Given the description of an element on the screen output the (x, y) to click on. 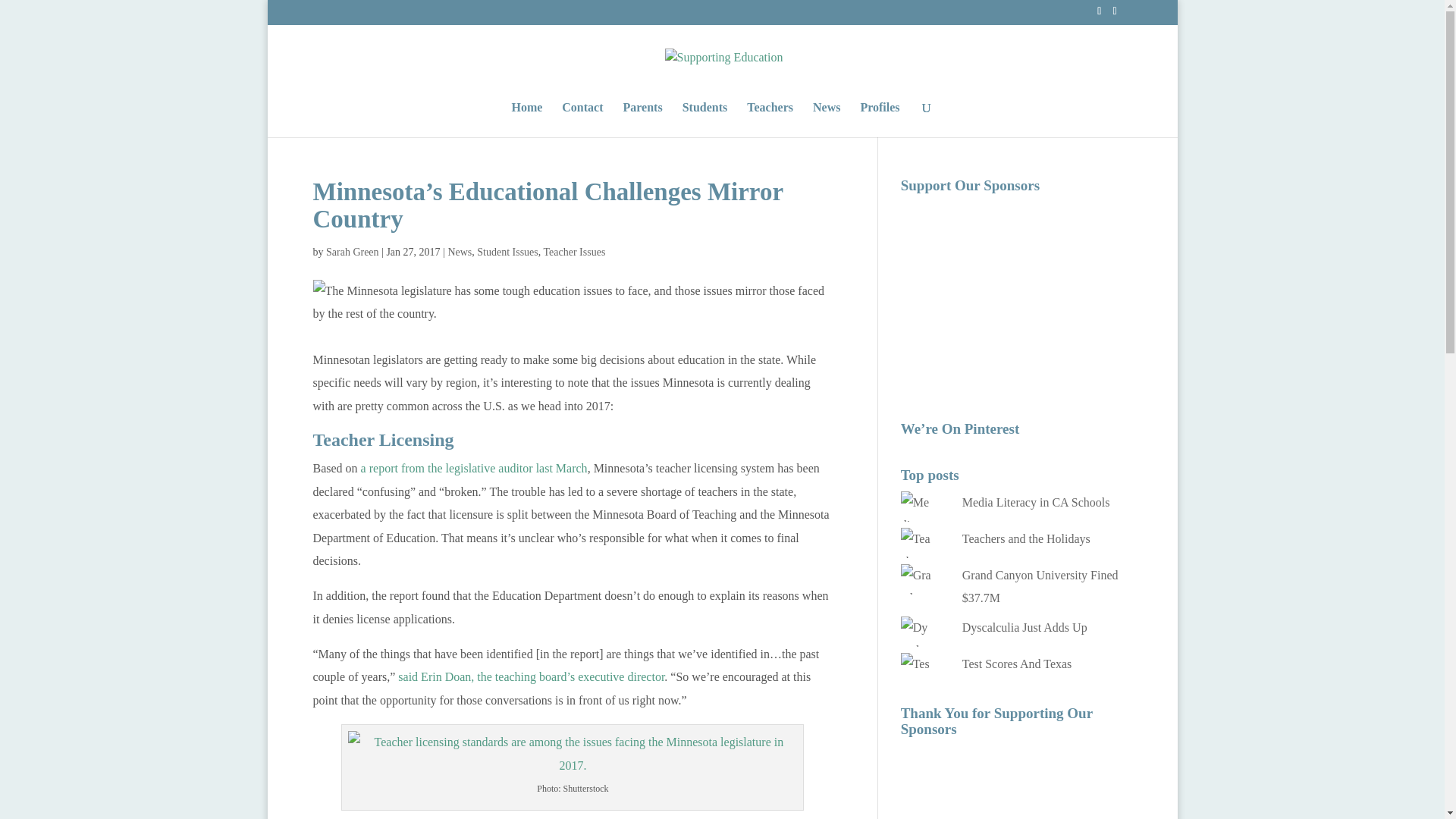
Student Issues (507, 251)
Test Scores And Texas (1016, 663)
News (458, 251)
Contact (582, 119)
Teachers (769, 119)
Dyscalculia Just Adds Up (1024, 626)
Parents (642, 119)
Sarah Green (352, 251)
Teacher Issues (574, 251)
Teachers and the Holidays (1026, 538)
